Given the description of an element on the screen output the (x, y) to click on. 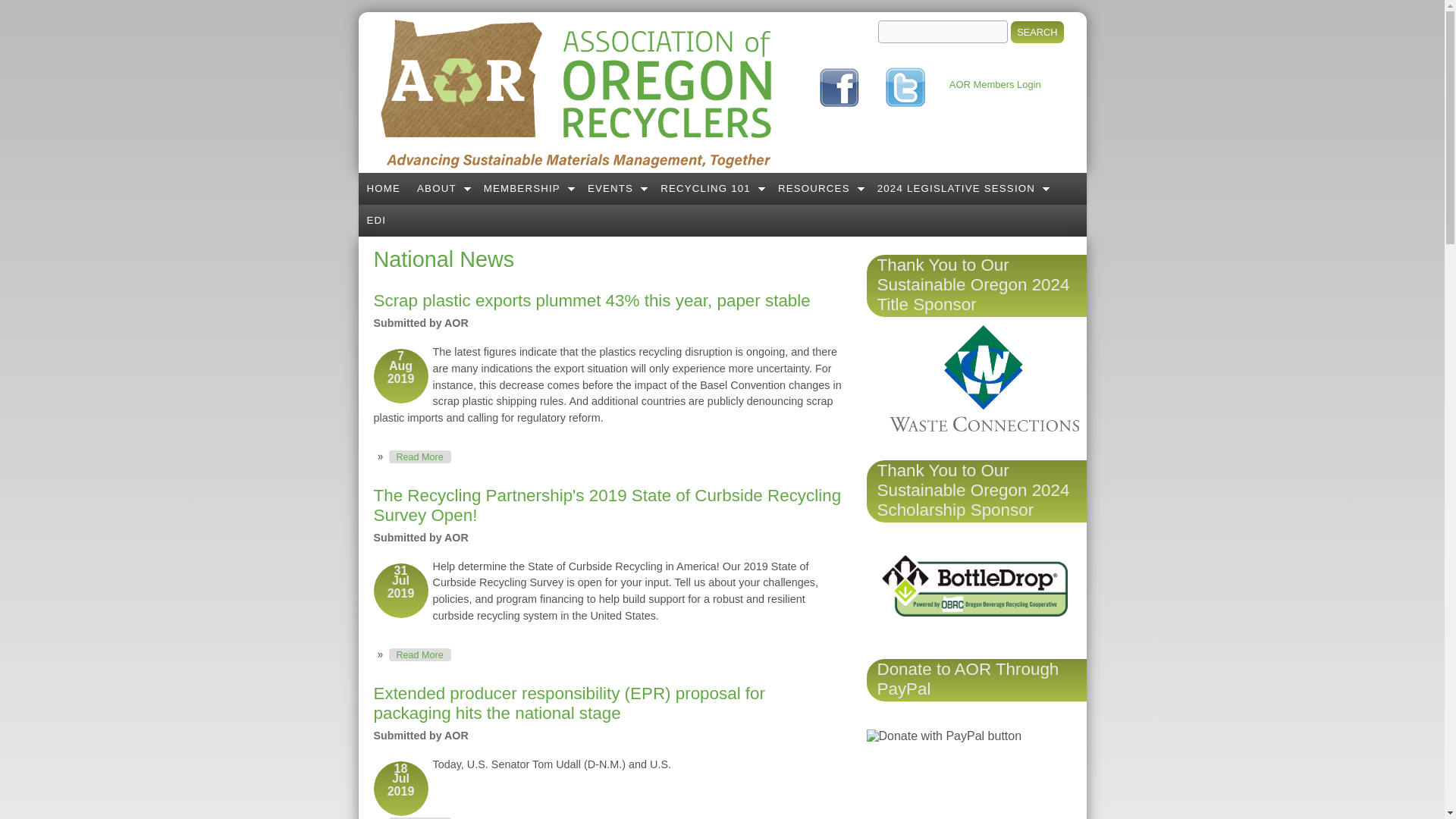
MEMBERSHIP (527, 188)
Enter the terms you wish to search for. (942, 31)
AOR Members Login (995, 84)
Search (1036, 32)
RECYCLING 101 (711, 188)
EVENTS (615, 188)
Search (1036, 32)
HOME (383, 188)
